Given the description of an element on the screen output the (x, y) to click on. 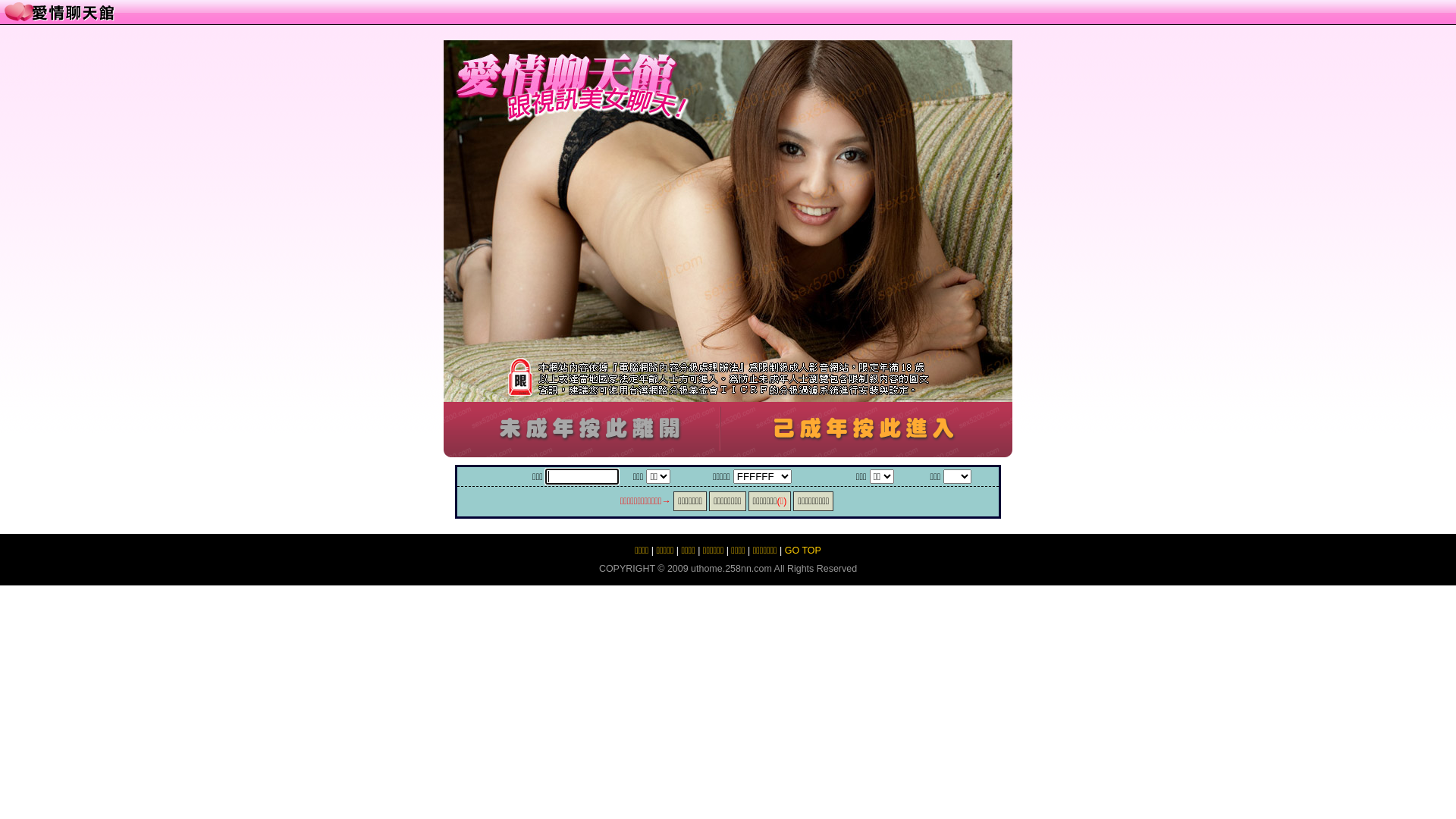
GO TOP Element type: text (802, 550)
uthome.258nn.com Element type: text (730, 568)
